Given the description of an element on the screen output the (x, y) to click on. 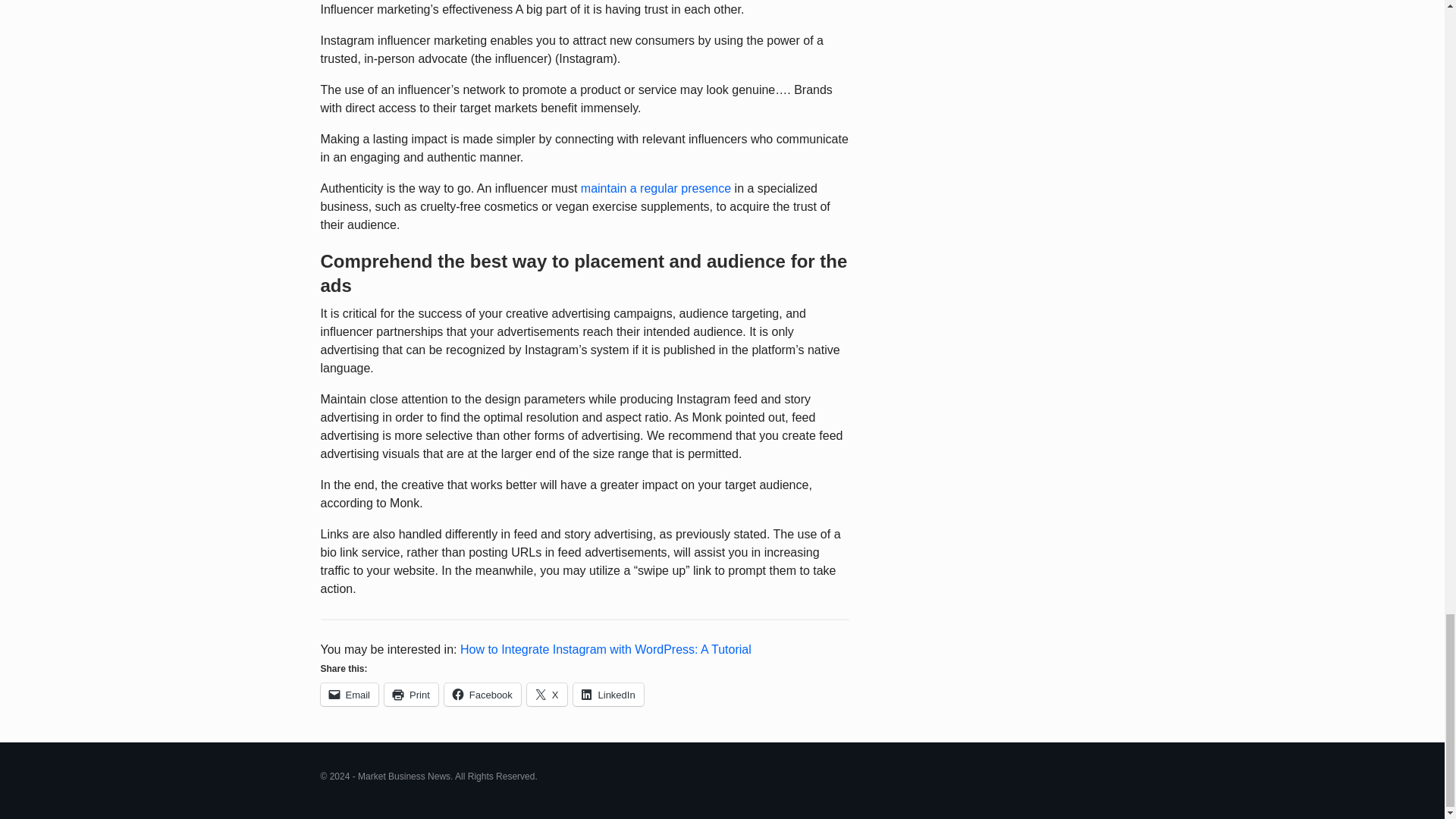
maintain a regular presence (655, 187)
X (547, 694)
Click to email a link to a friend (349, 694)
Facebook (482, 694)
Click to share on X (547, 694)
How to Integrate Instagram with WordPress: A Tutorial (605, 649)
Print (411, 694)
Click to share on LinkedIn (608, 694)
Email (349, 694)
Click to share on Facebook (482, 694)
Click to print (411, 694)
LinkedIn (608, 694)
